Given the description of an element on the screen output the (x, y) to click on. 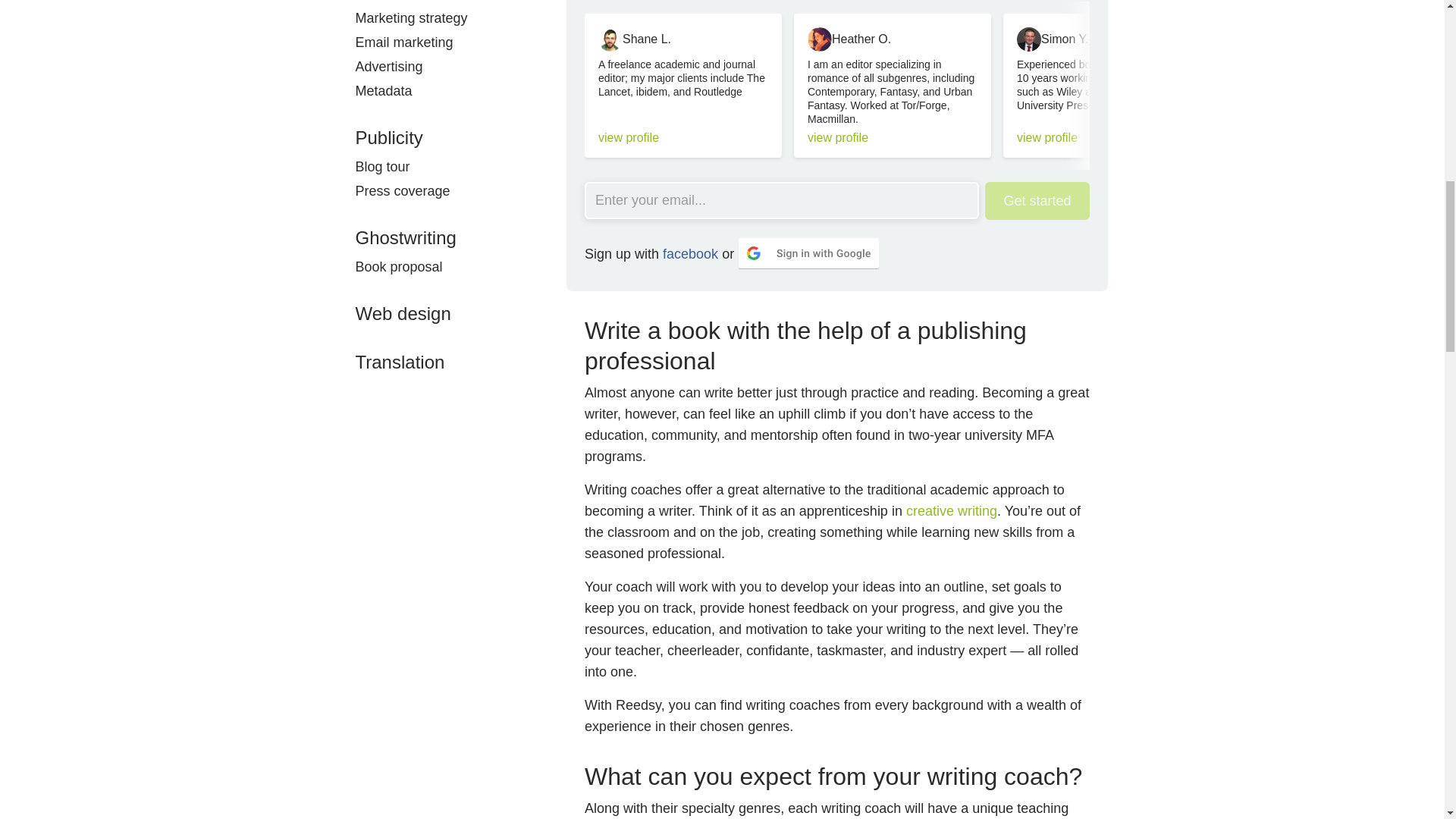
Get started (1037, 200)
